Given the description of an element on the screen output the (x, y) to click on. 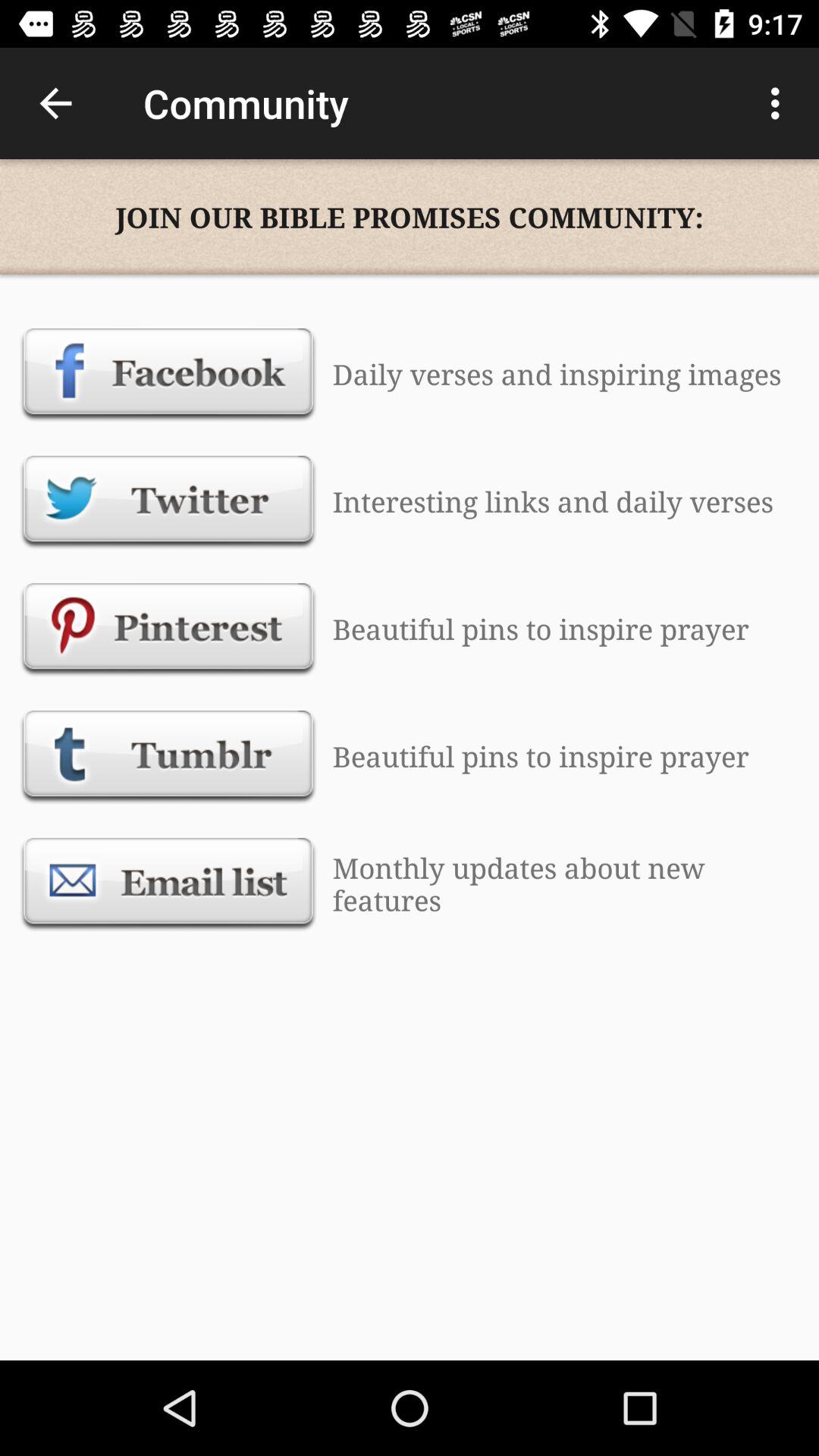
launch the item next to the daily verses and (167, 374)
